Given the description of an element on the screen output the (x, y) to click on. 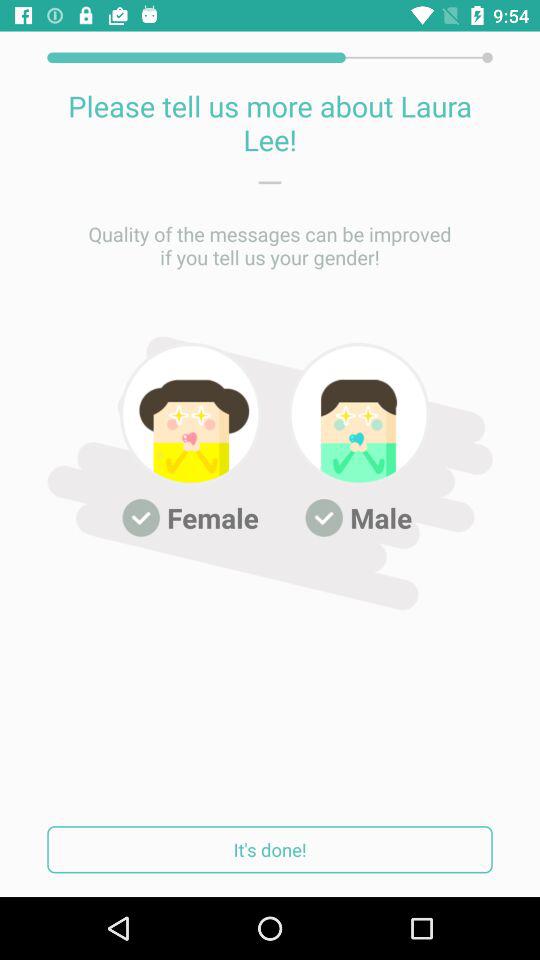
flip to the it's done! icon (269, 849)
